Given the description of an element on the screen output the (x, y) to click on. 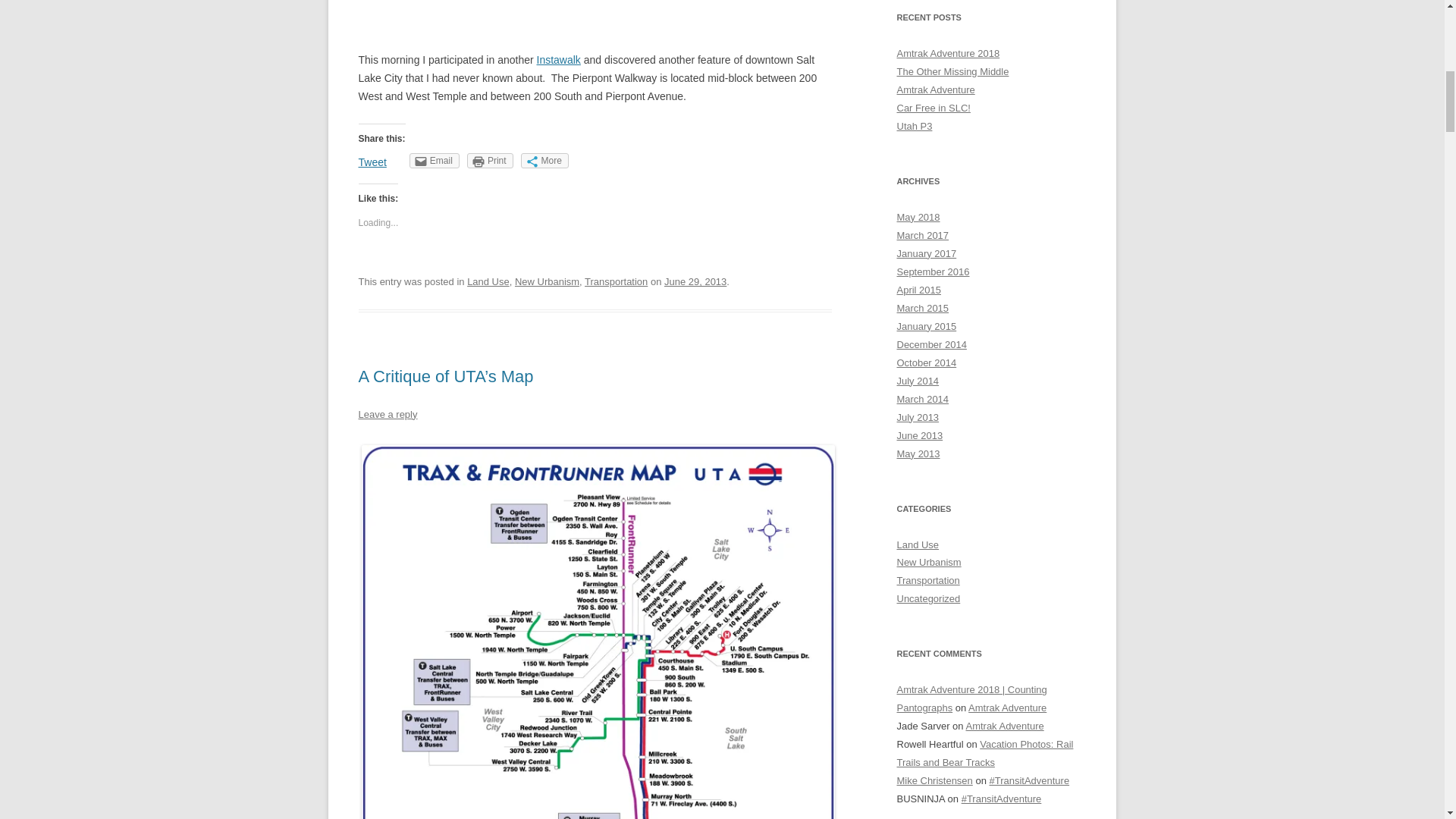
New Urbanism (547, 281)
Leave a reply (387, 414)
Transportation (616, 281)
Email (434, 160)
11:46 pm (694, 281)
Tweet (371, 162)
Click to print (490, 160)
More (545, 160)
Print (490, 160)
Land Use (488, 281)
Click to email this to a friend (434, 160)
June 29, 2013 (694, 281)
Instawalk (558, 60)
